Given the description of an element on the screen output the (x, y) to click on. 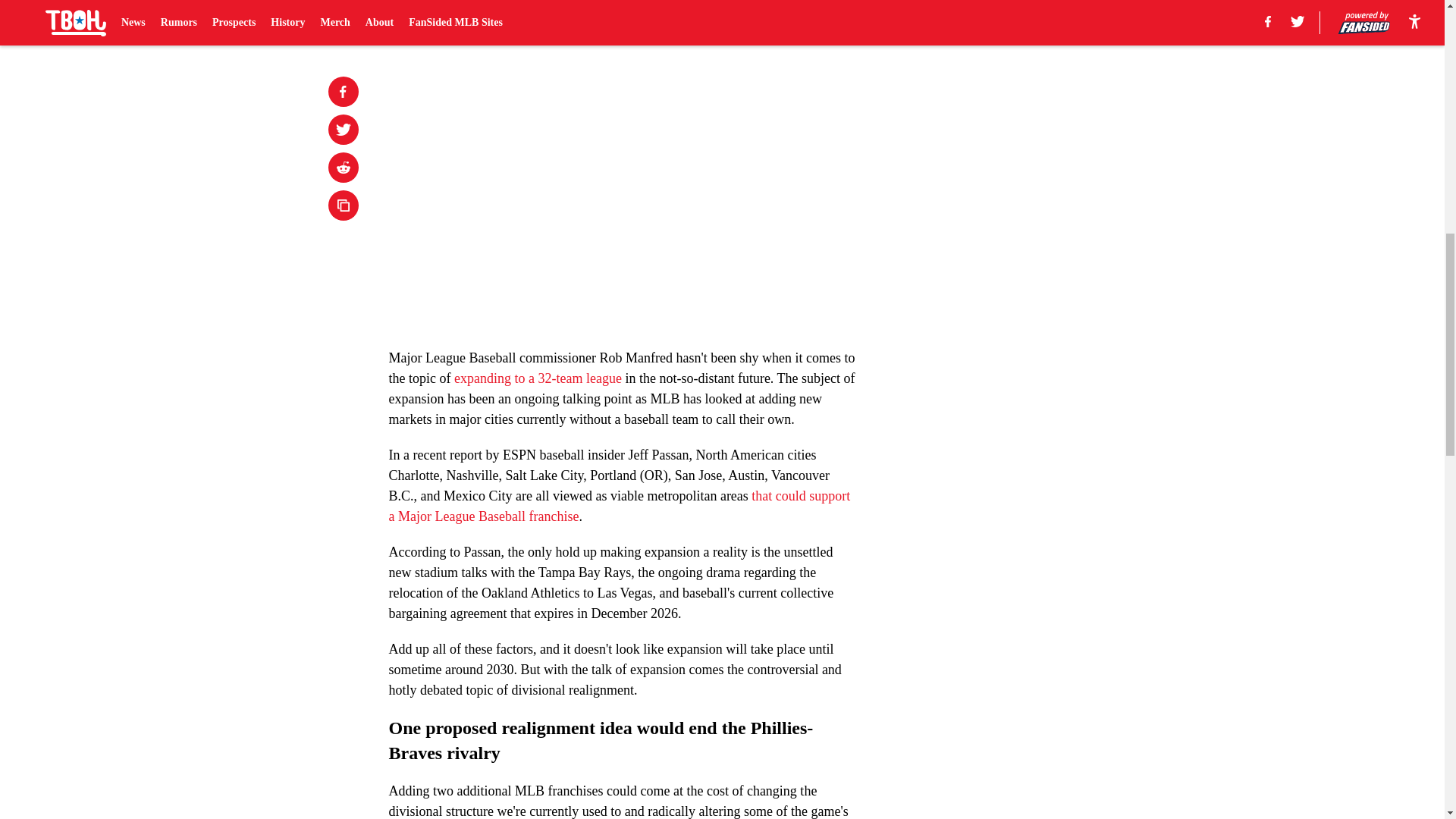
expanding to a 32-team league (537, 378)
that could support a Major League Baseball franchise (619, 506)
